Given the description of an element on the screen output the (x, y) to click on. 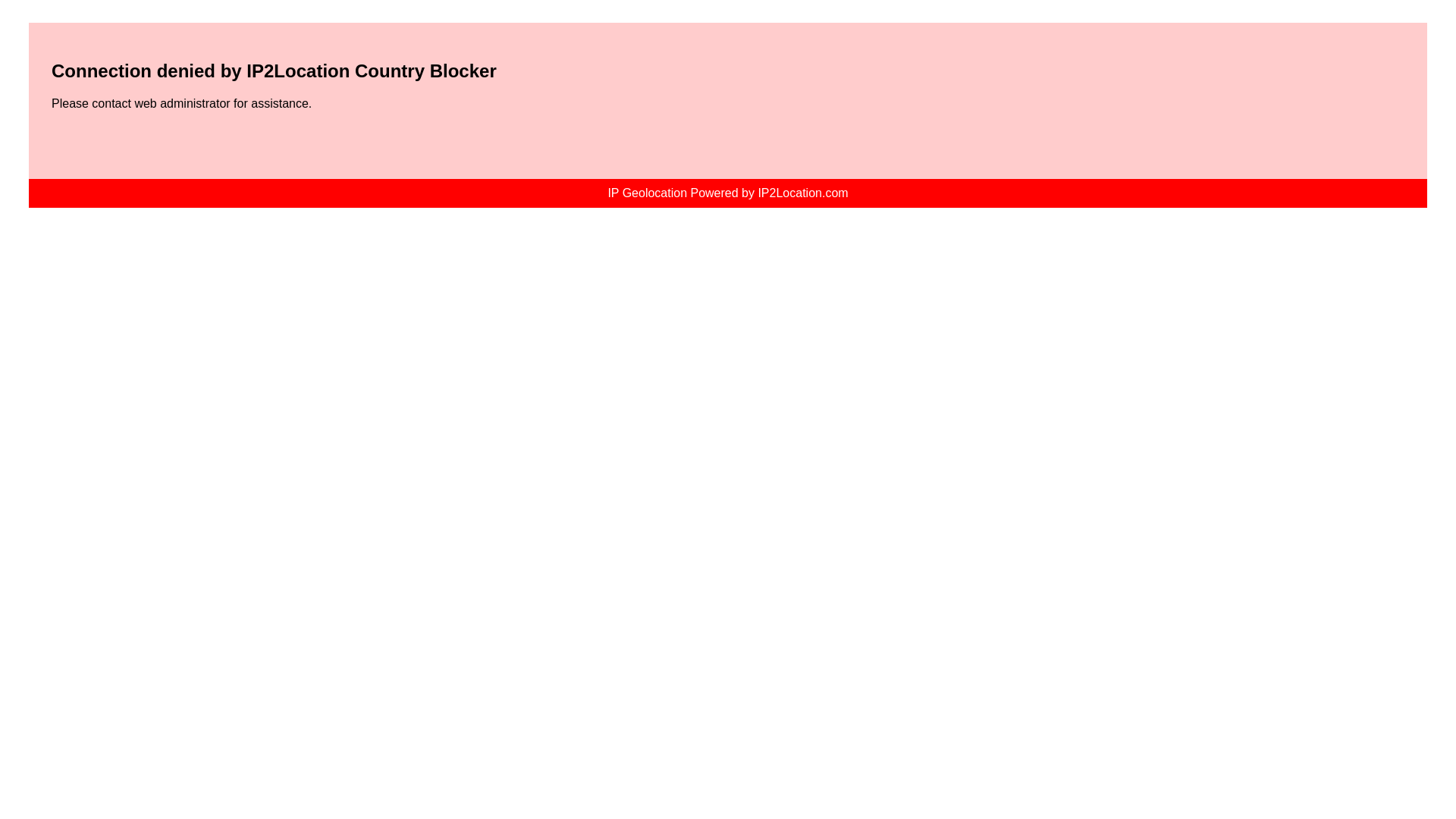
IP Geolocation Powered by IP2Location.com (727, 192)
